Given the description of an element on the screen output the (x, y) to click on. 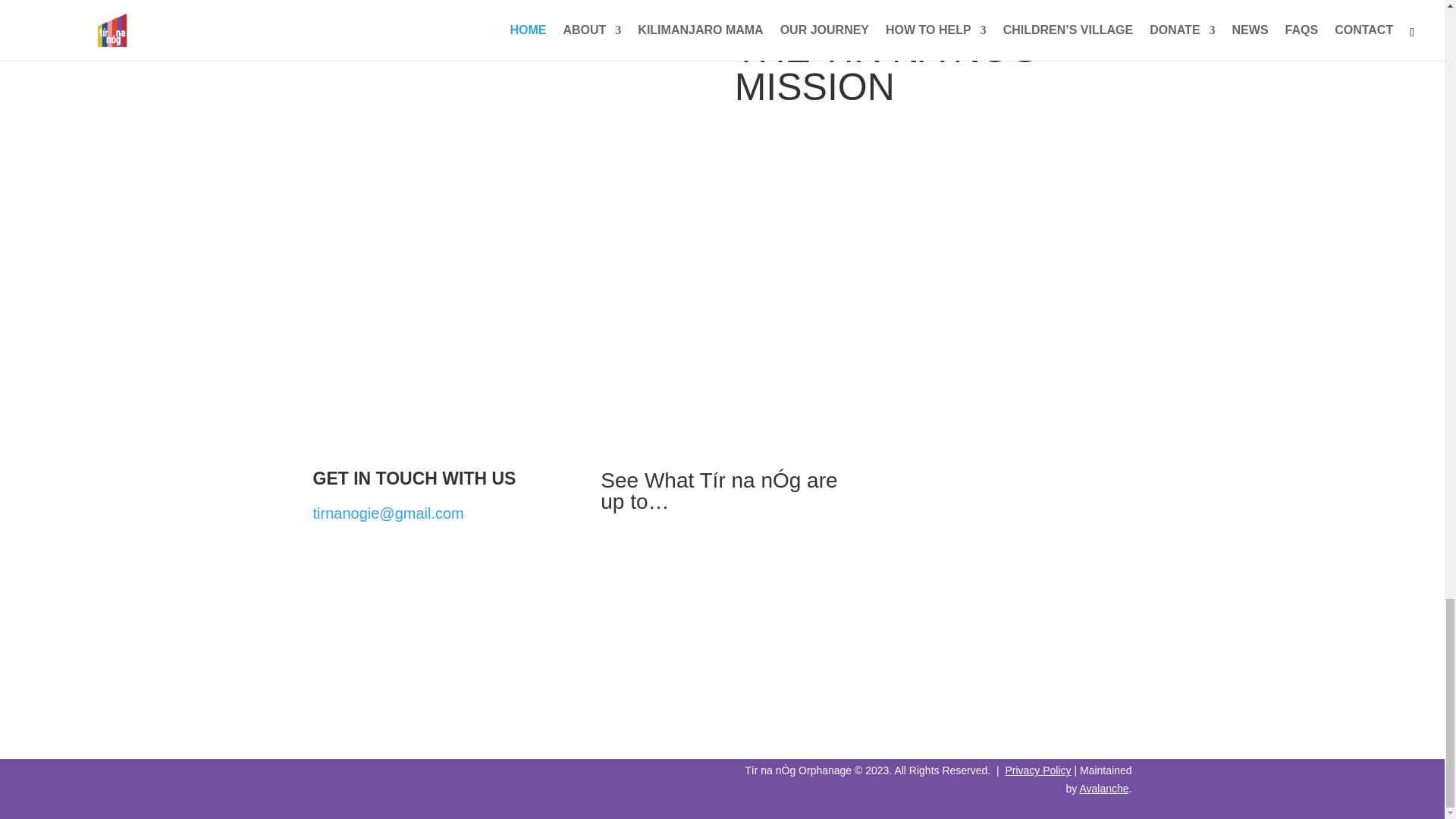
2-Kids-Cropped-650px (371, 36)
Avalanche (1103, 788)
Privacy Policy (1037, 770)
